Given the description of an element on the screen output the (x, y) to click on. 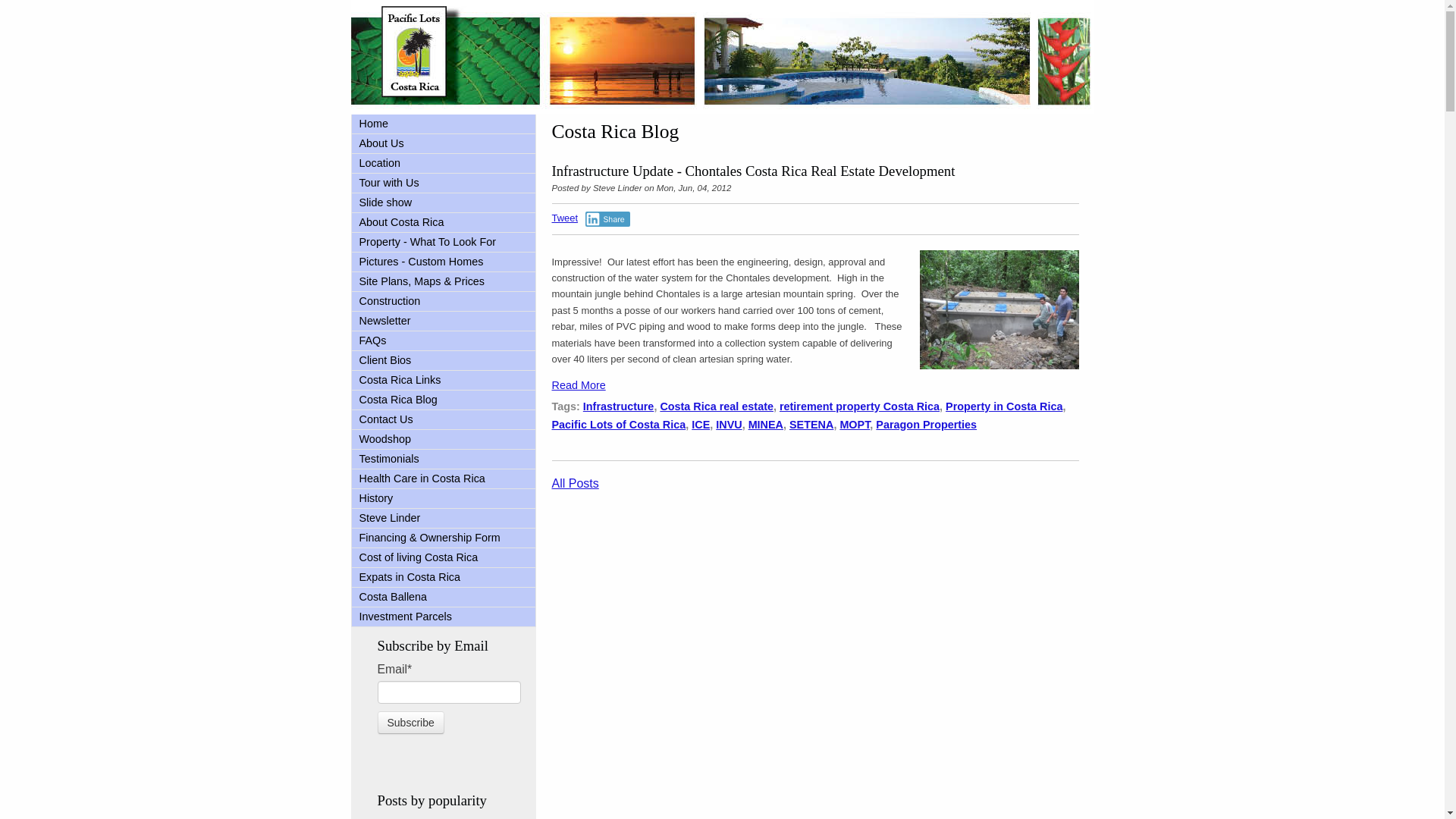
Subscribe (410, 722)
